Given the description of an element on the screen output the (x, y) to click on. 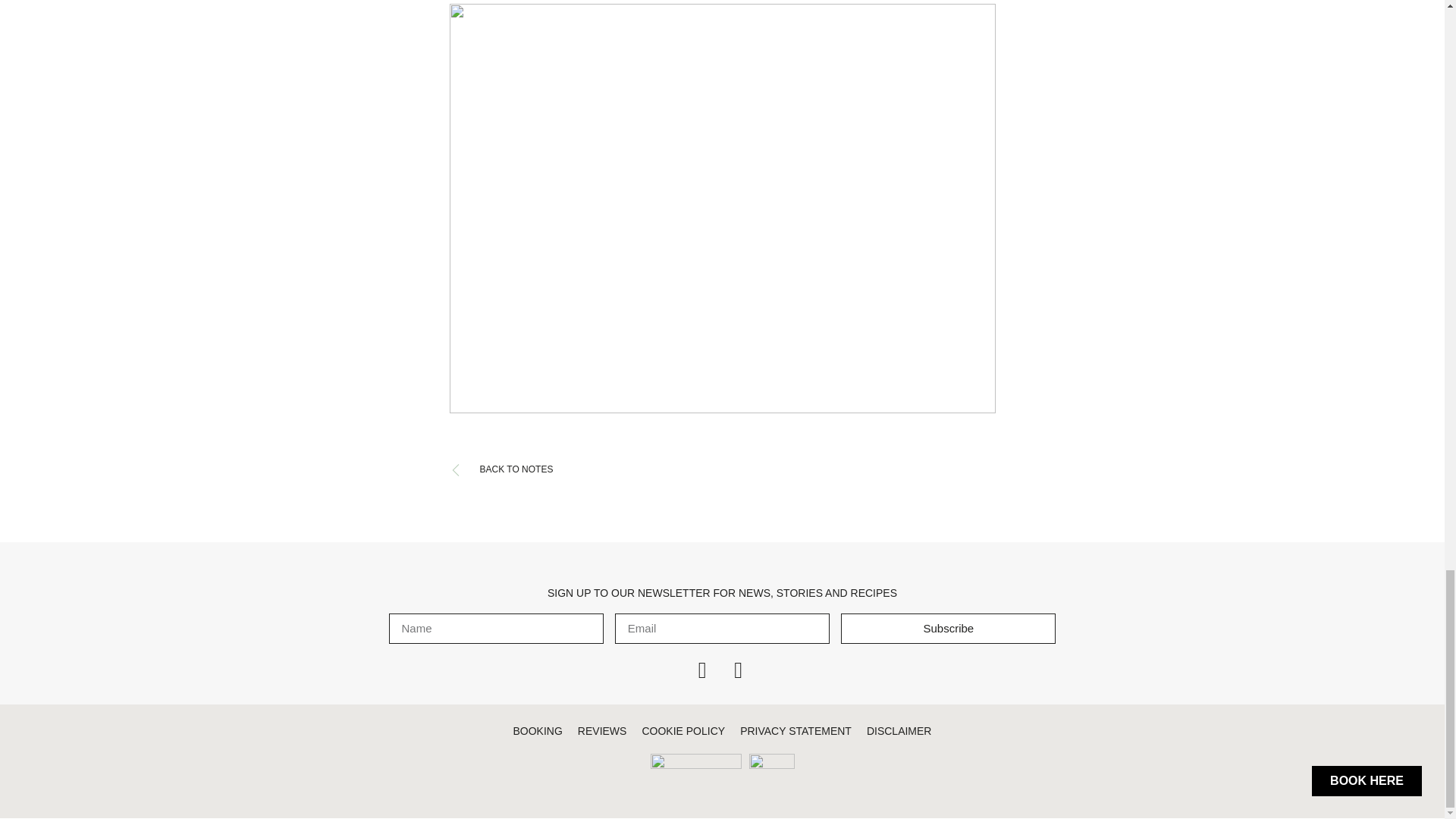
PRIVACY STATEMENT (795, 730)
DISCLAIMER (898, 730)
BACK TO NOTES (721, 469)
Subscribe (948, 628)
BOOKING (537, 730)
COOKIE POLICY (683, 730)
REVIEWS (602, 730)
